Given the description of an element on the screen output the (x, y) to click on. 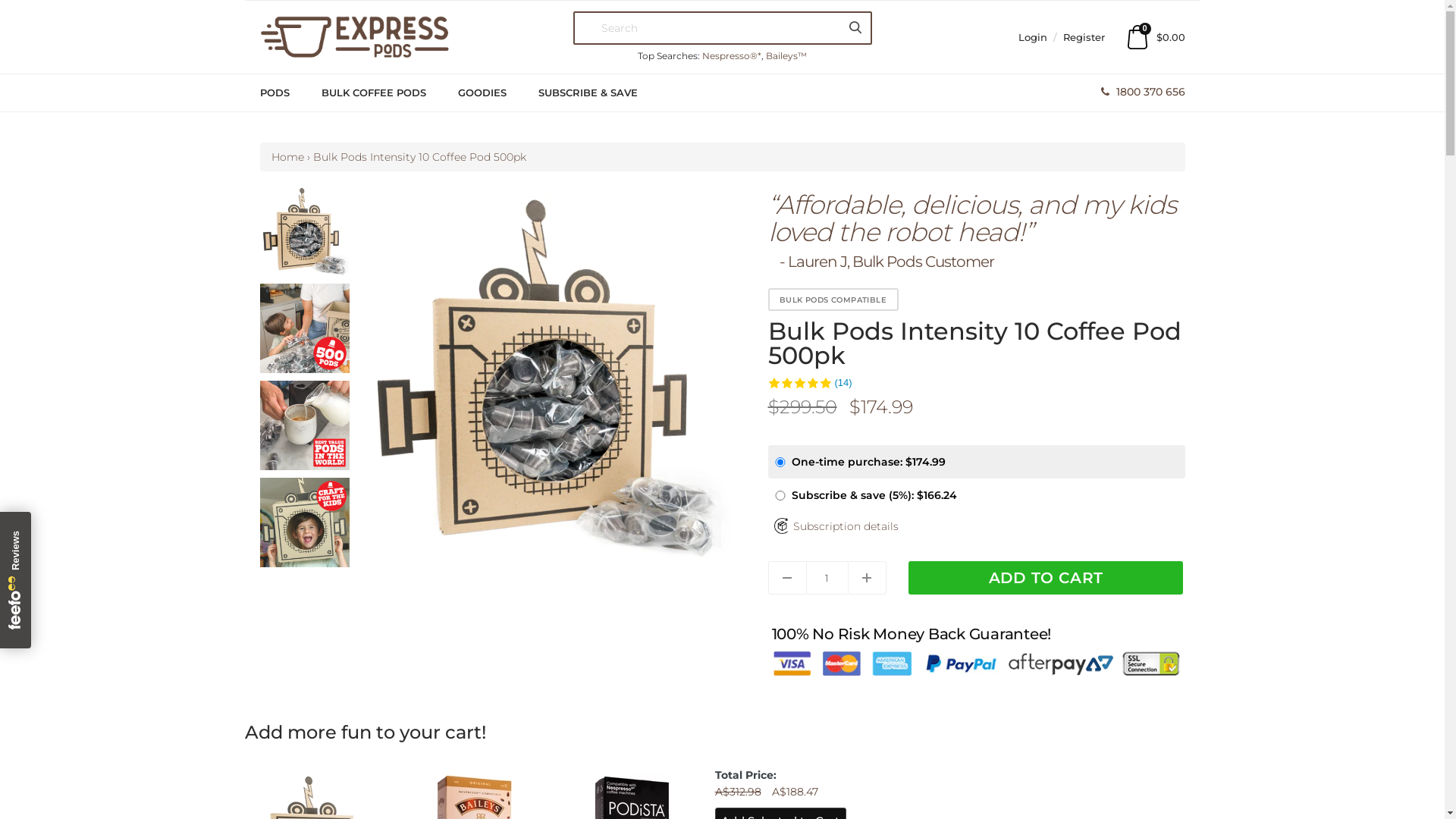
BULK COFFEE PODS Element type: text (388, 92)
GOODIES Element type: text (496, 92)
Home Element type: text (287, 156)
1800 370 656 Element type: text (1143, 91)
Login Element type: text (1033, 37)
ADD TO CART Element type: text (1045, 577)
SUBSCRIBE & SAVE Element type: text (602, 92)
$0.00
0 Element type: text (1155, 36)
(14) Element type: text (810, 382)
PODS Element type: text (288, 92)
Register Element type: text (1083, 37)
